Given the description of an element on the screen output the (x, y) to click on. 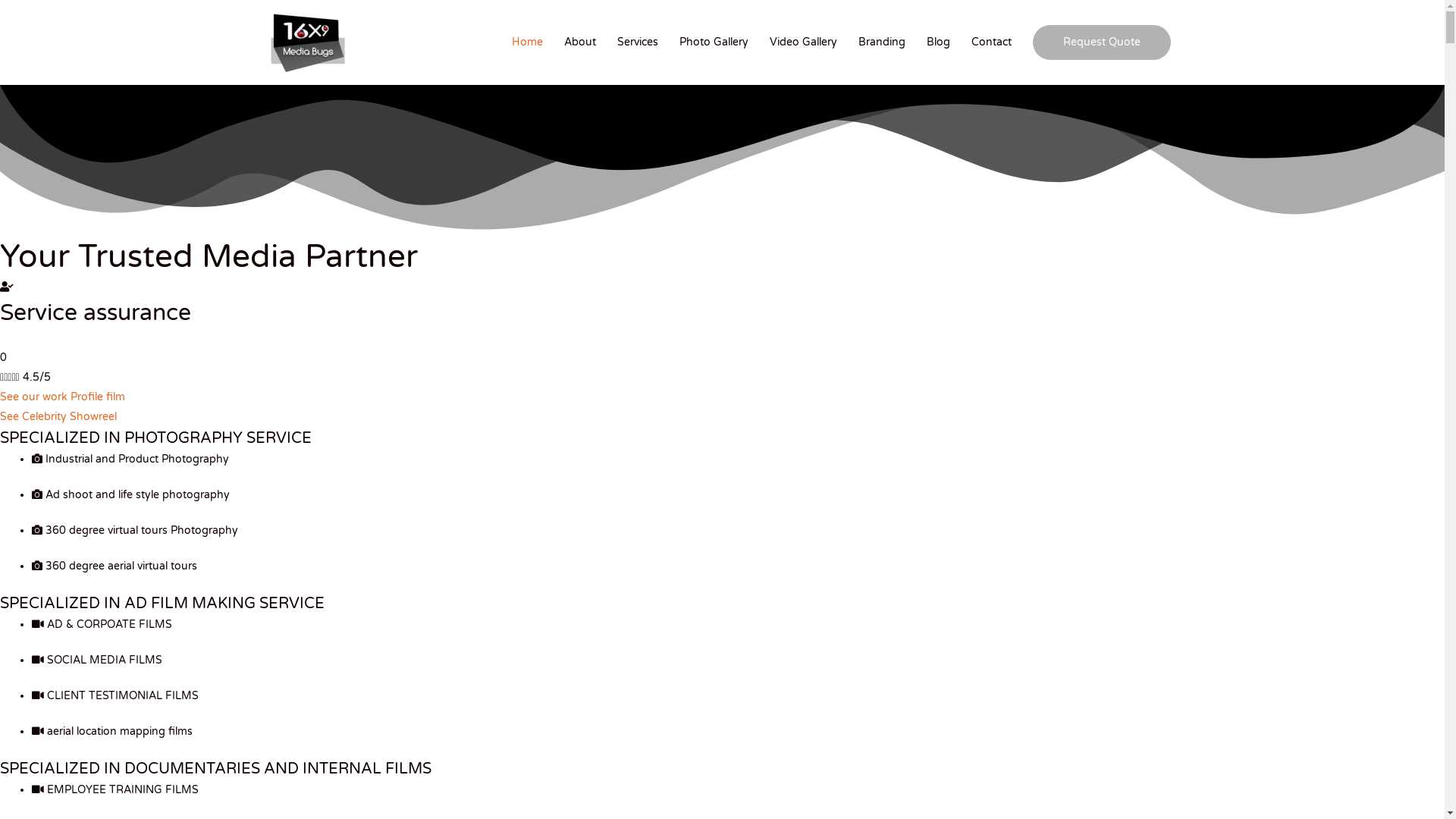
Contact Element type: text (991, 42)
Photo Gallery Element type: text (713, 42)
Request Quote Element type: text (1101, 42)
See our work Profile film Element type: text (62, 396)
Branding Element type: text (881, 42)
About Element type: text (579, 42)
Video Gallery Element type: text (803, 42)
Services Element type: text (637, 42)
Home Element type: text (527, 42)
See Celebrity Showreel Element type: text (58, 416)
Blog Element type: text (938, 42)
